Given the description of an element on the screen output the (x, y) to click on. 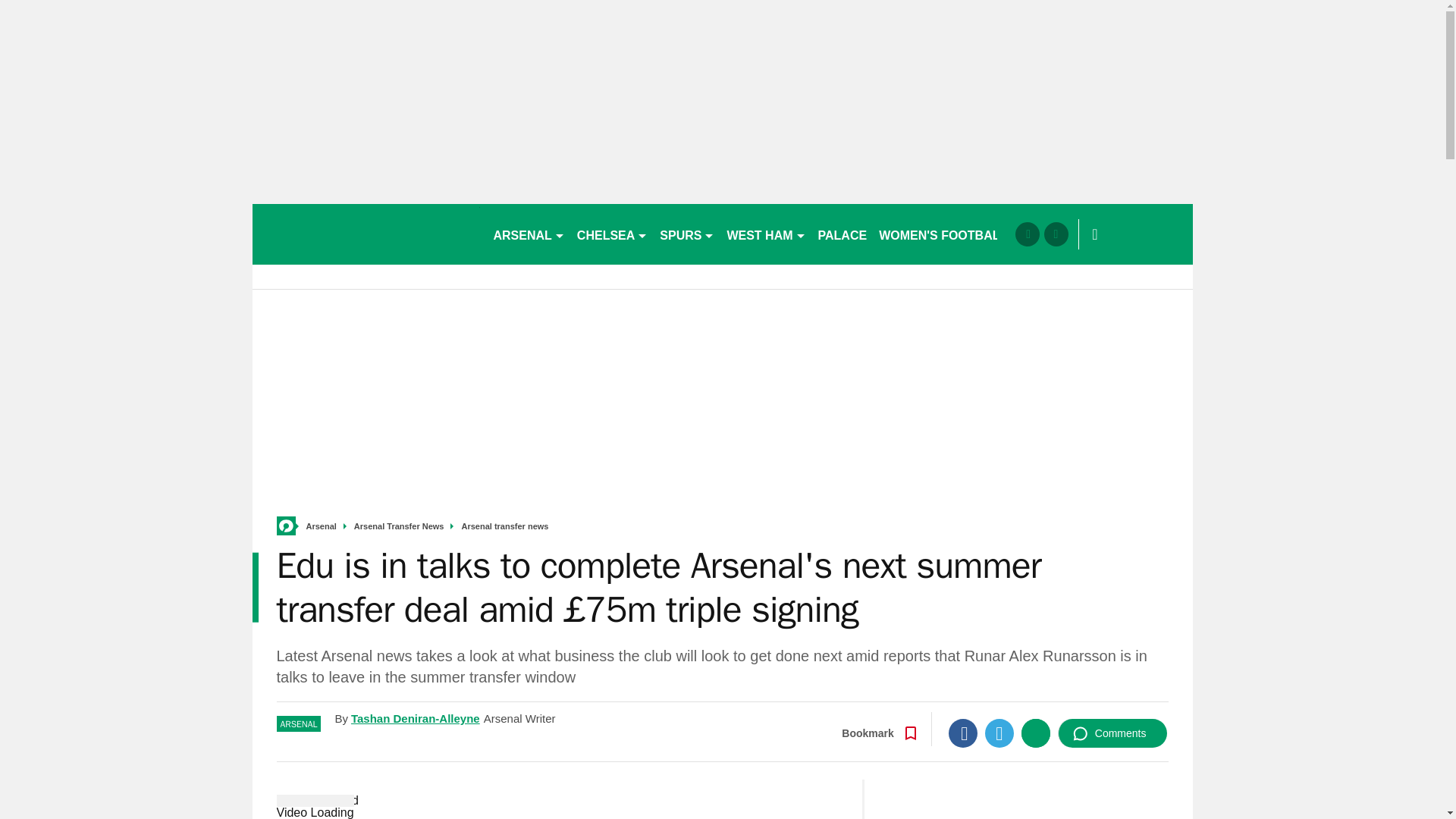
WOMEN'S FOOTBALL (942, 233)
facebook (1026, 233)
Facebook (962, 733)
CHELSEA (611, 233)
Comments (1112, 733)
WEST HAM (765, 233)
ARSENAL (528, 233)
Twitter (999, 733)
footballlondon (365, 233)
SPURS (686, 233)
twitter (1055, 233)
PALACE (842, 233)
